Given the description of an element on the screen output the (x, y) to click on. 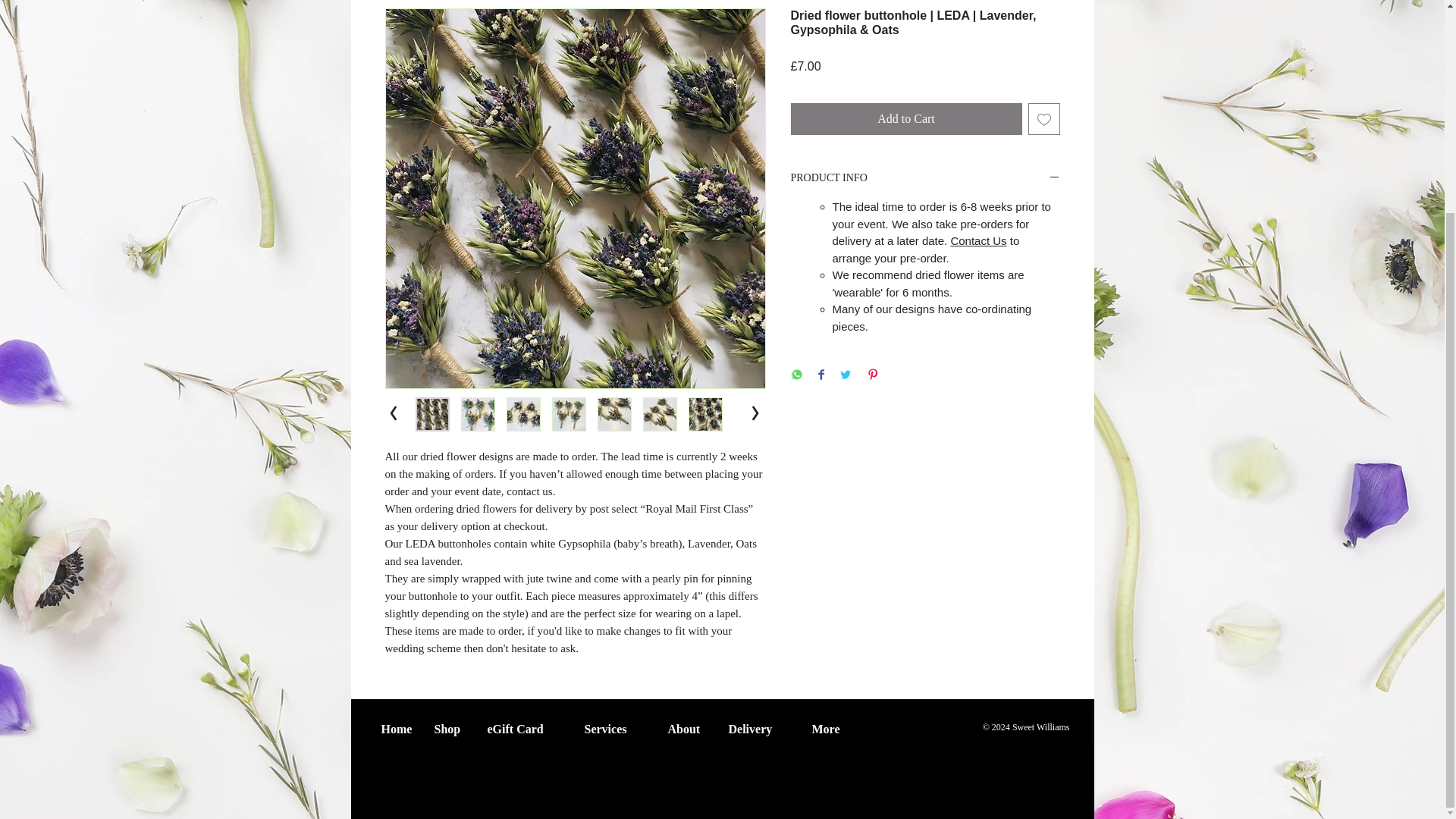
Home (396, 727)
Add to Cart (906, 119)
eGift Card (524, 727)
PRODUCT INFO (924, 178)
Shop (449, 727)
Contact Us (978, 240)
